Given the description of an element on the screen output the (x, y) to click on. 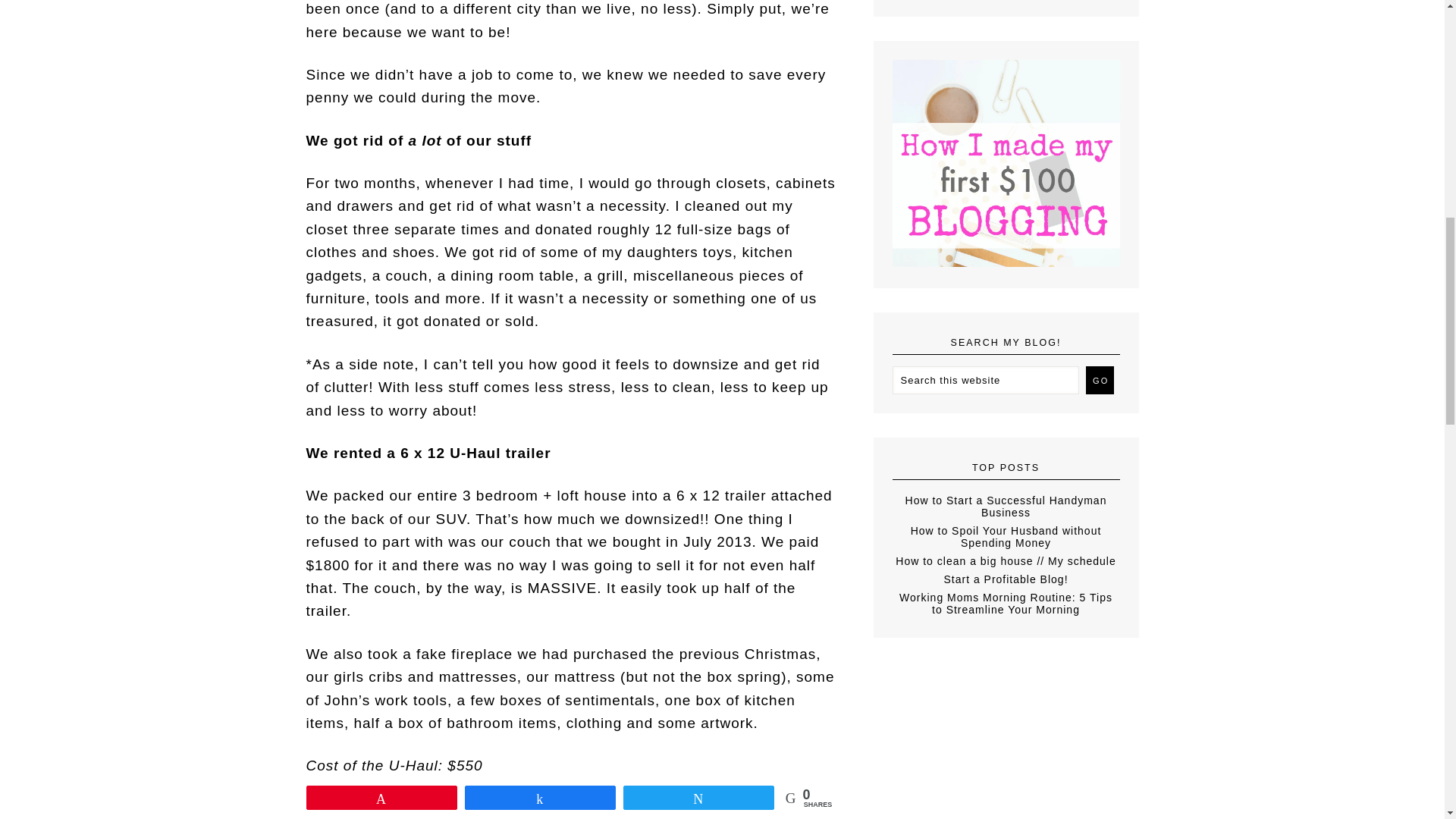
How to Spoil Your Husband without Spending Money (1006, 536)
GO (1099, 379)
How to Start a Successful Handyman Business (1005, 506)
Start a Profitable Blog! (1005, 579)
GO (1099, 379)
GO (1099, 379)
